Given the description of an element on the screen output the (x, y) to click on. 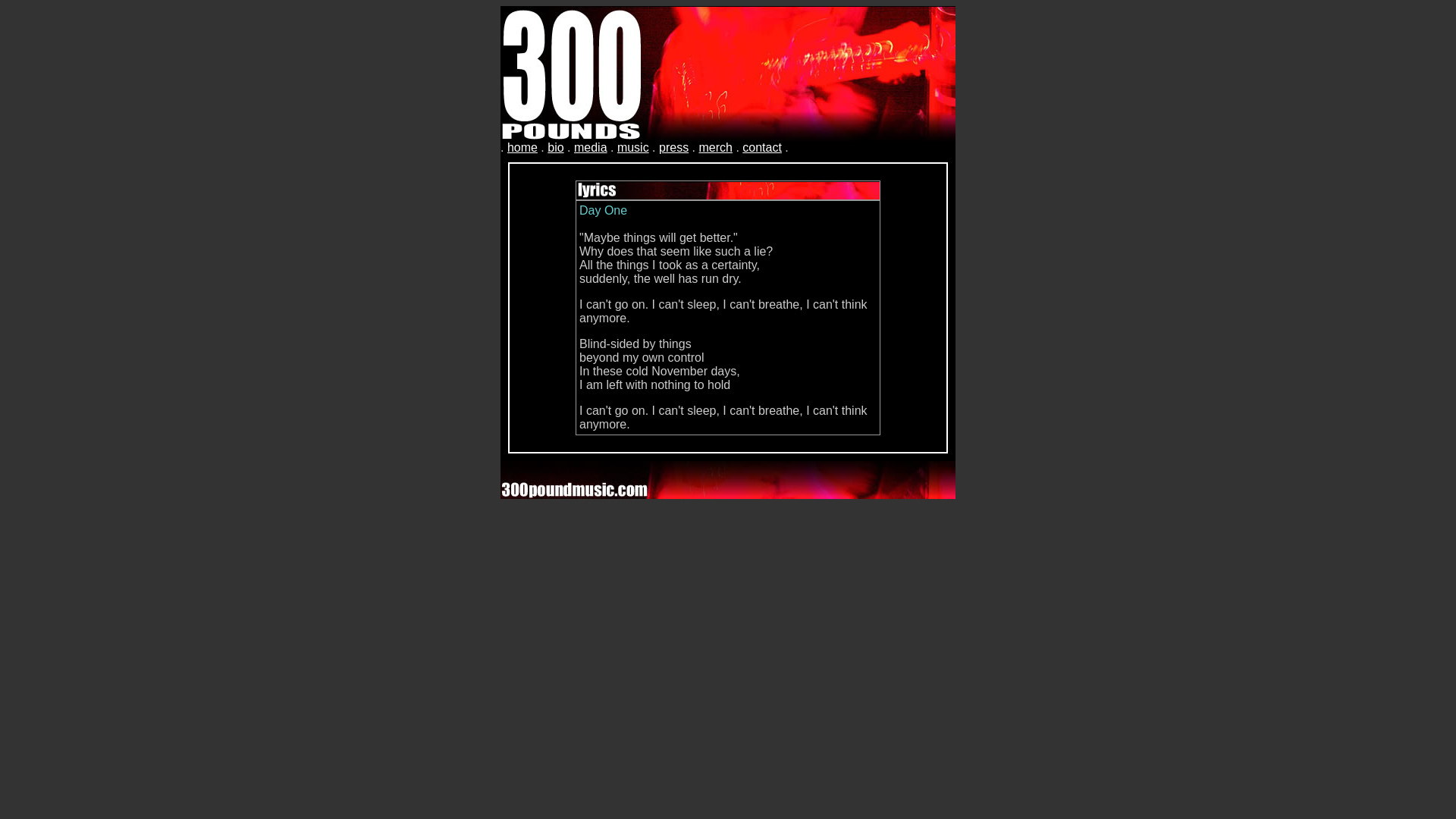
merch Element type: text (714, 147)
media Element type: text (590, 147)
press Element type: text (673, 147)
home Element type: text (522, 147)
music Element type: text (633, 147)
bio Element type: text (555, 147)
contact Element type: text (761, 147)
